Given the description of an element on the screen output the (x, y) to click on. 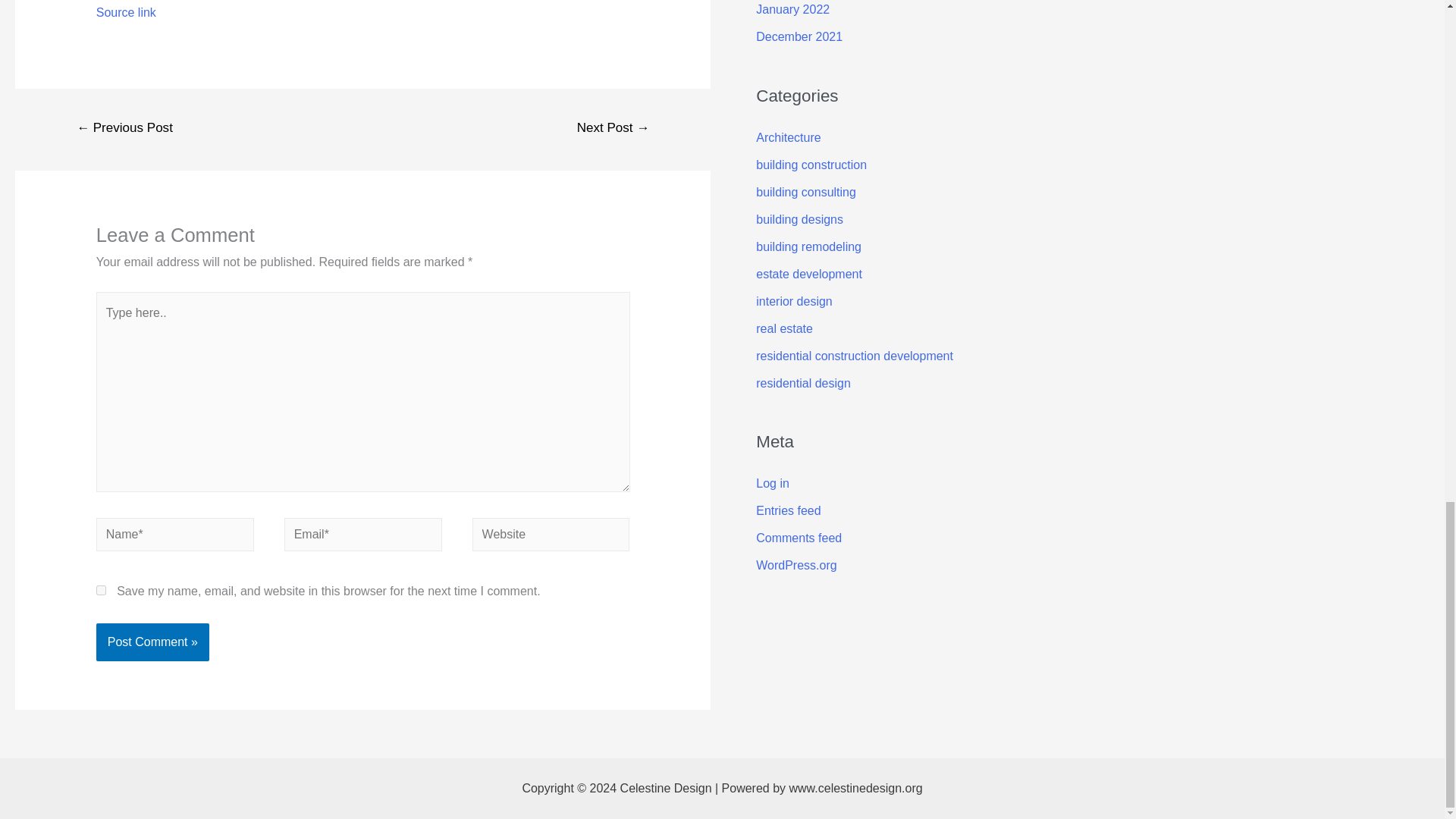
yes (101, 590)
